Given the description of an element on the screen output the (x, y) to click on. 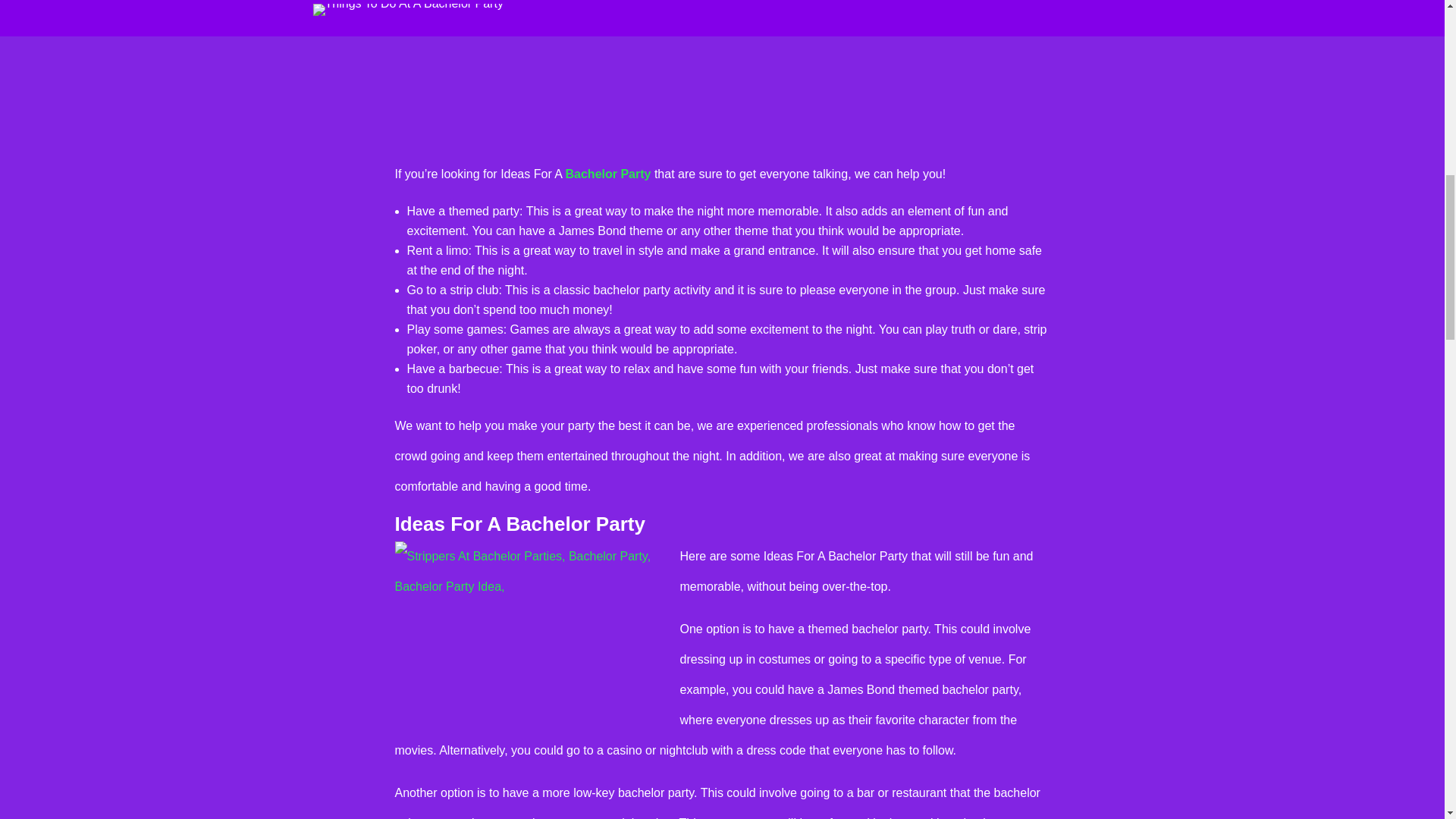
Bachelor Party (608, 173)
Strippers At Bachelor Parties (531, 632)
